Given the description of an element on the screen output the (x, y) to click on. 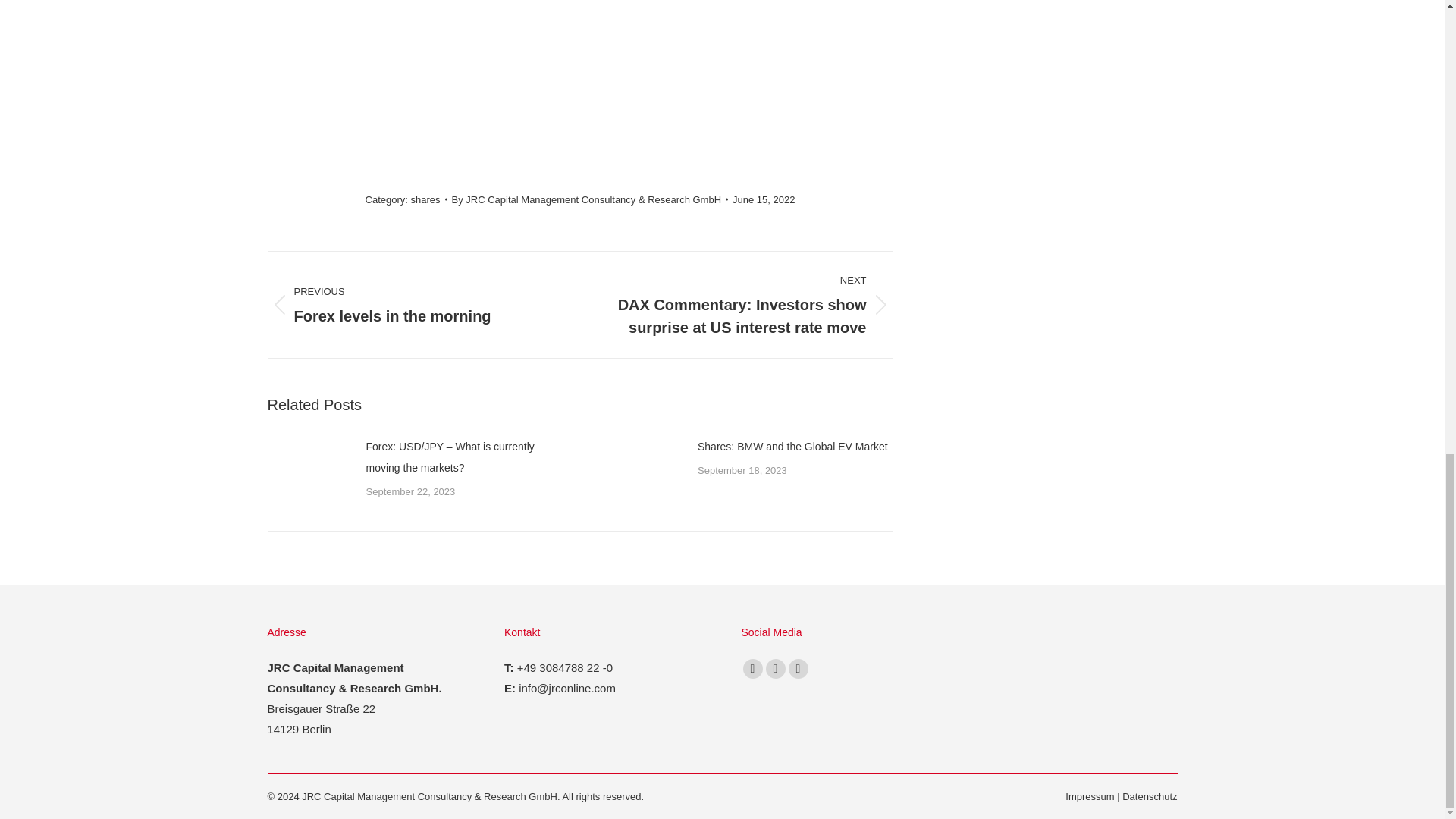
Linkedin page opens in new window (775, 668)
2:07 pm (763, 199)
XING page opens in new window (798, 668)
X page opens in new window (752, 668)
